Given the description of an element on the screen output the (x, y) to click on. 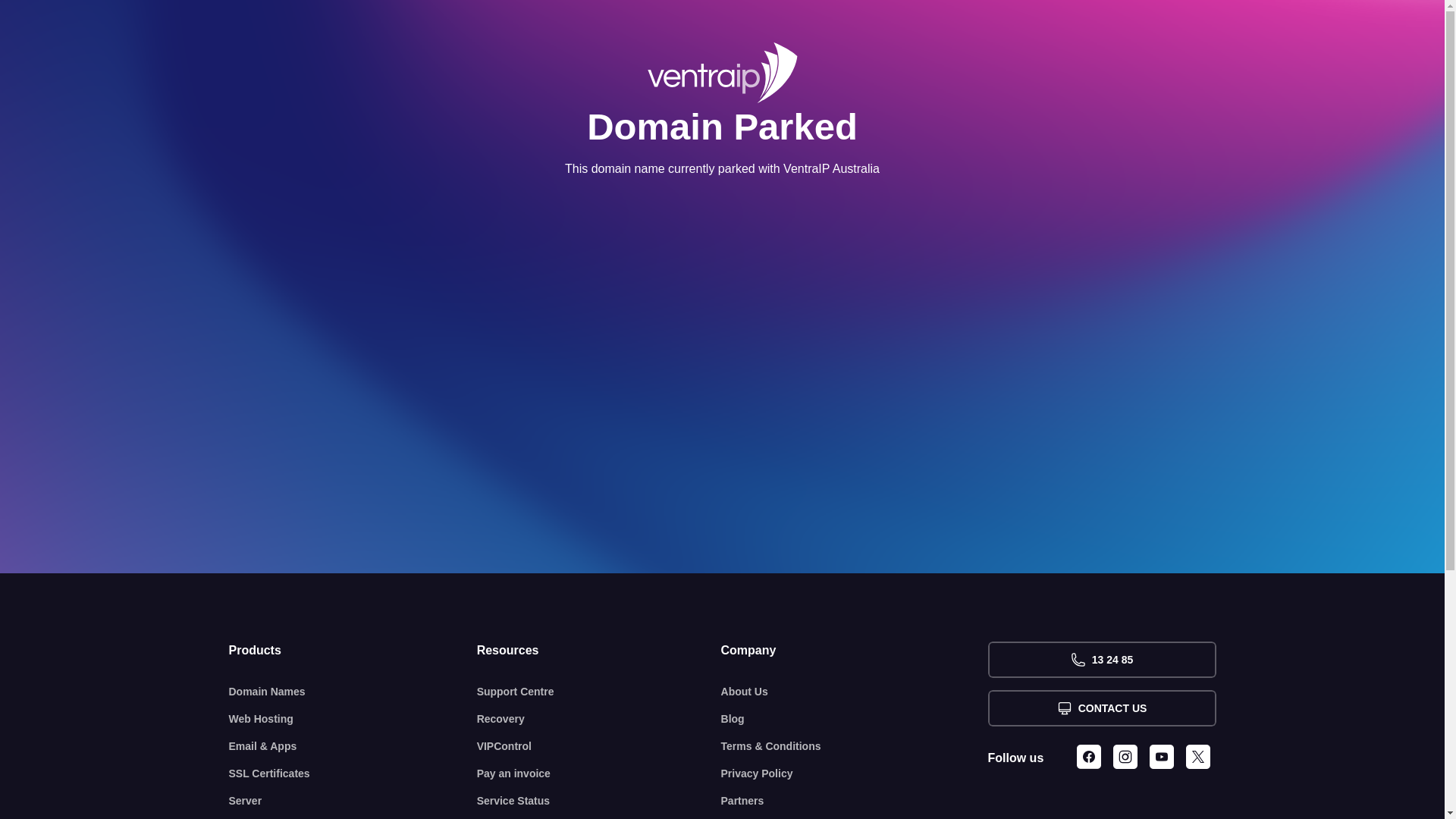
CONTACT US Element type: text (1101, 708)
Pay an invoice Element type: text (598, 773)
Email & Apps Element type: text (352, 745)
Terms & Conditions Element type: text (854, 745)
13 24 85 Element type: text (1101, 659)
Recovery Element type: text (598, 718)
Domain Names Element type: text (352, 691)
Support Centre Element type: text (598, 691)
Privacy Policy Element type: text (854, 773)
SSL Certificates Element type: text (352, 773)
About Us Element type: text (854, 691)
Web Hosting Element type: text (352, 718)
Server Element type: text (352, 800)
VIPControl Element type: text (598, 745)
Partners Element type: text (854, 800)
Service Status Element type: text (598, 800)
Blog Element type: text (854, 718)
